Given the description of an element on the screen output the (x, y) to click on. 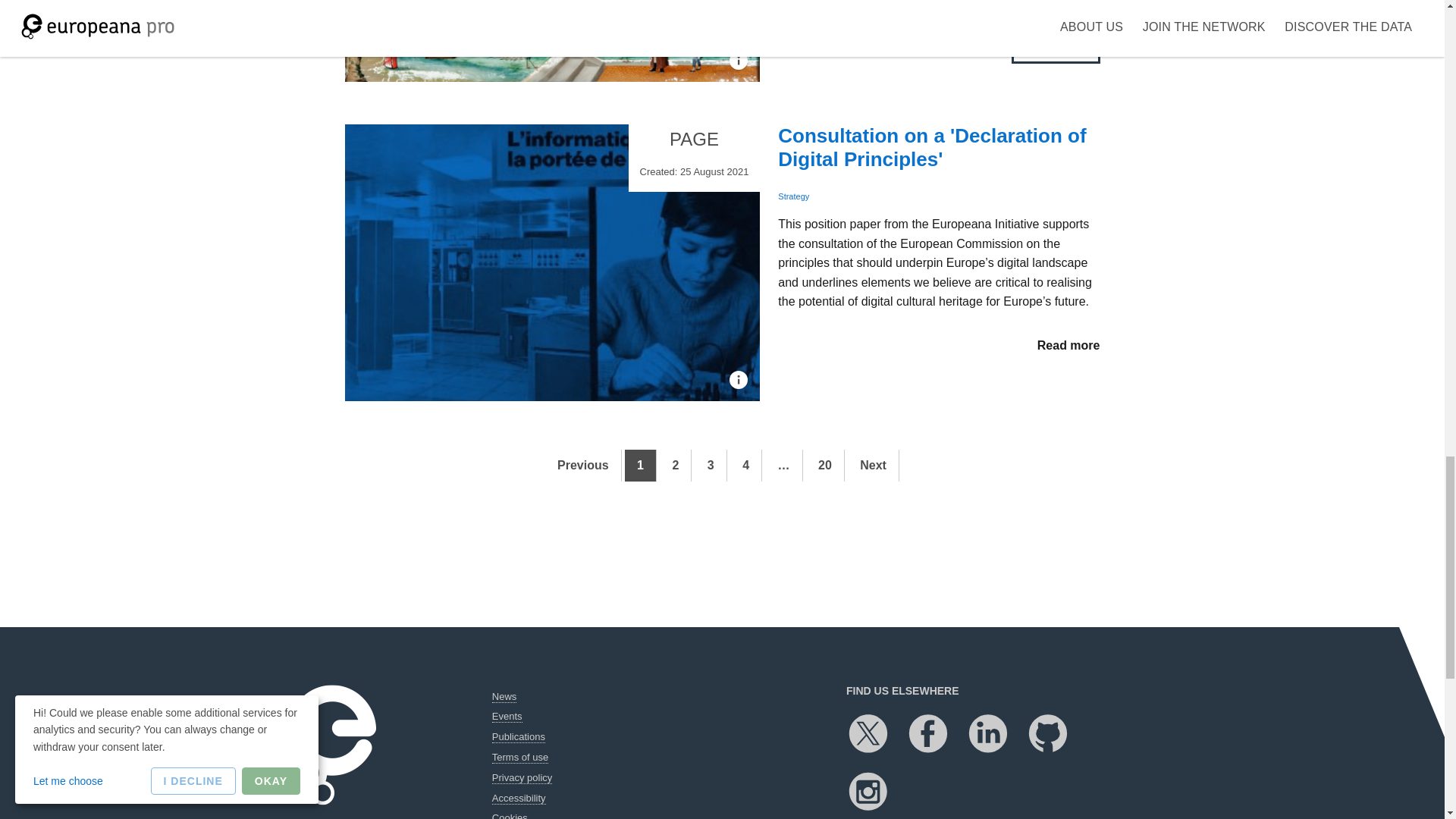
News (504, 696)
READ MORE (1055, 49)
Events (507, 716)
Publications (518, 736)
